Given the description of an element on the screen output the (x, y) to click on. 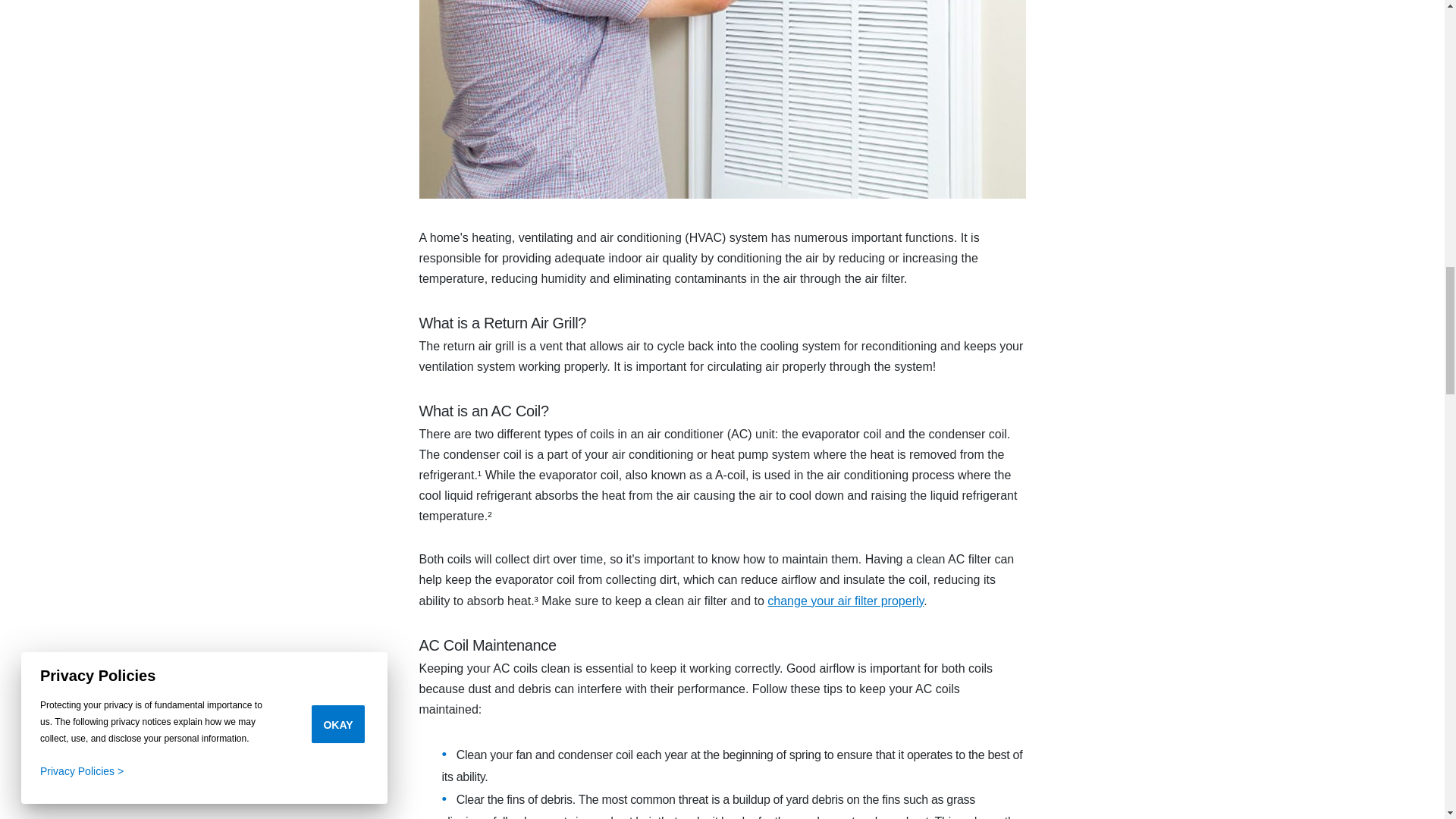
change your air filter properly (845, 600)
